Given the description of an element on the screen output the (x, y) to click on. 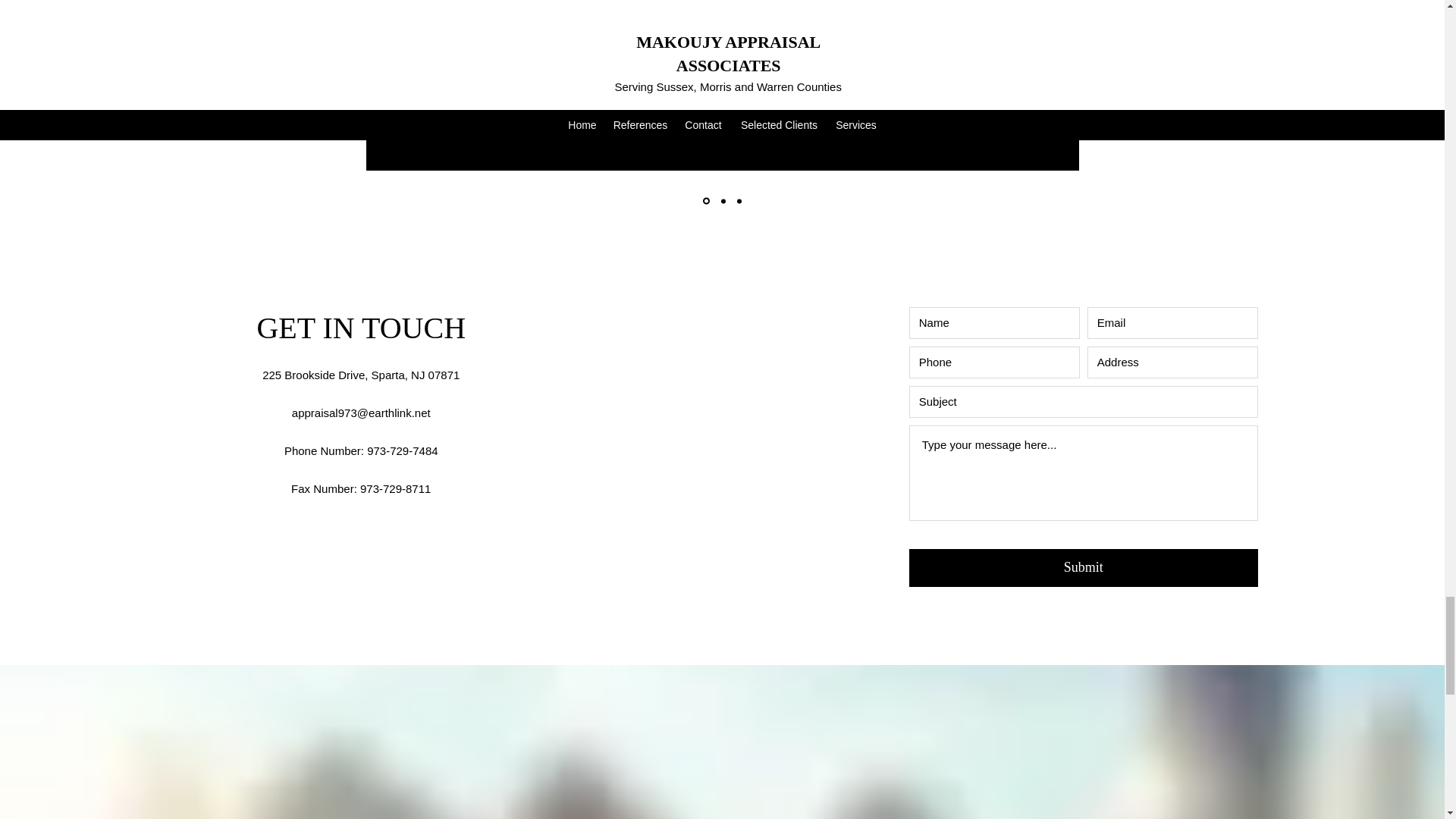
Submit (1082, 567)
